Given the description of an element on the screen output the (x, y) to click on. 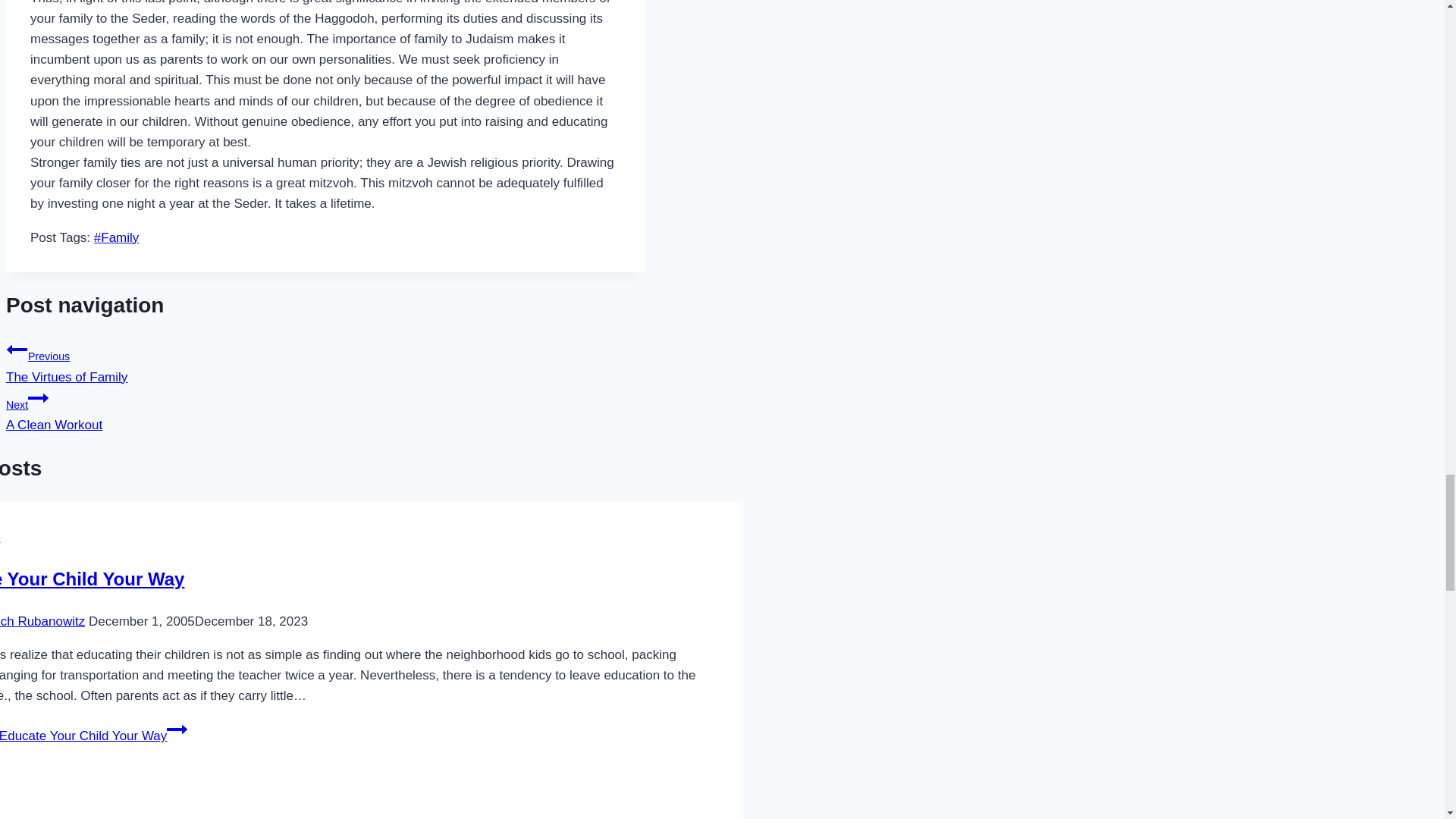
Rav Baruch Rubanowitz (325, 409)
Continue (325, 361)
Previous (42, 621)
Educate Your Child Your Way (37, 397)
Read More Educate Your Child Your WayContinue (16, 349)
Continue (92, 578)
Family (93, 735)
